Given the description of an element on the screen output the (x, y) to click on. 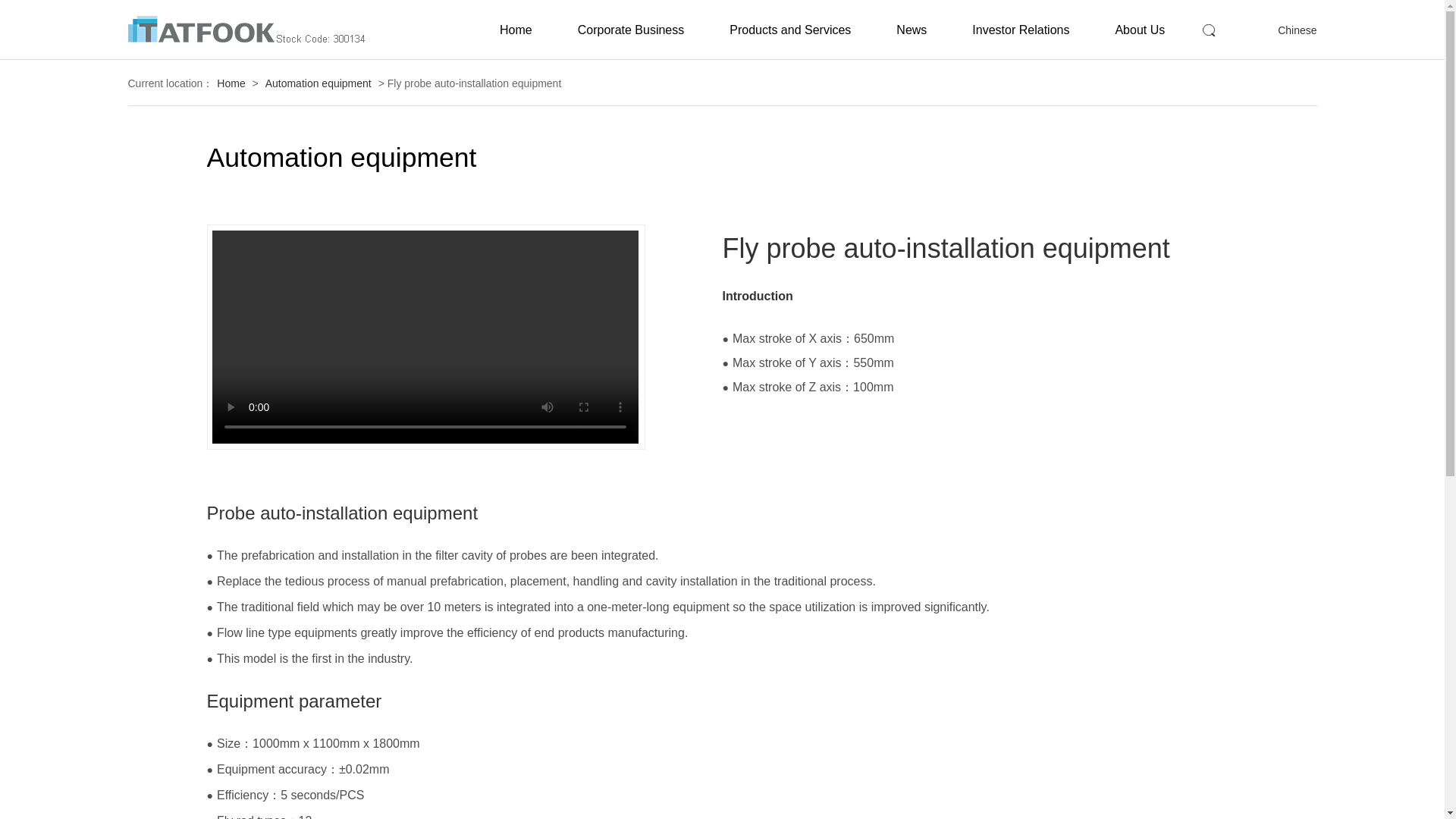
Home (515, 29)
Corporate Business (631, 29)
Products and Services (789, 29)
